Given the description of an element on the screen output the (x, y) to click on. 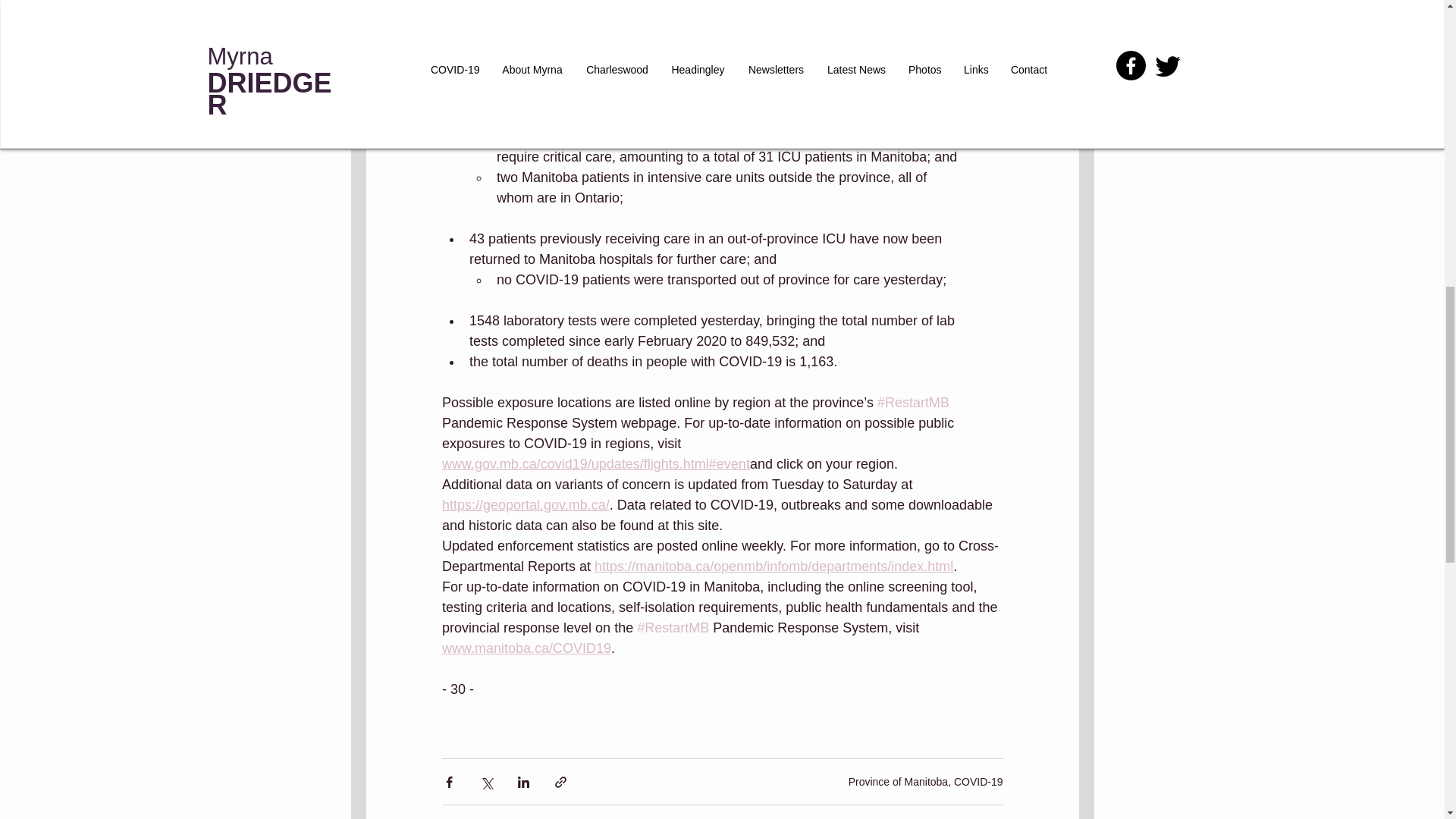
Province of Manitoba, COVID-19 (925, 780)
